Given the description of an element on the screen output the (x, y) to click on. 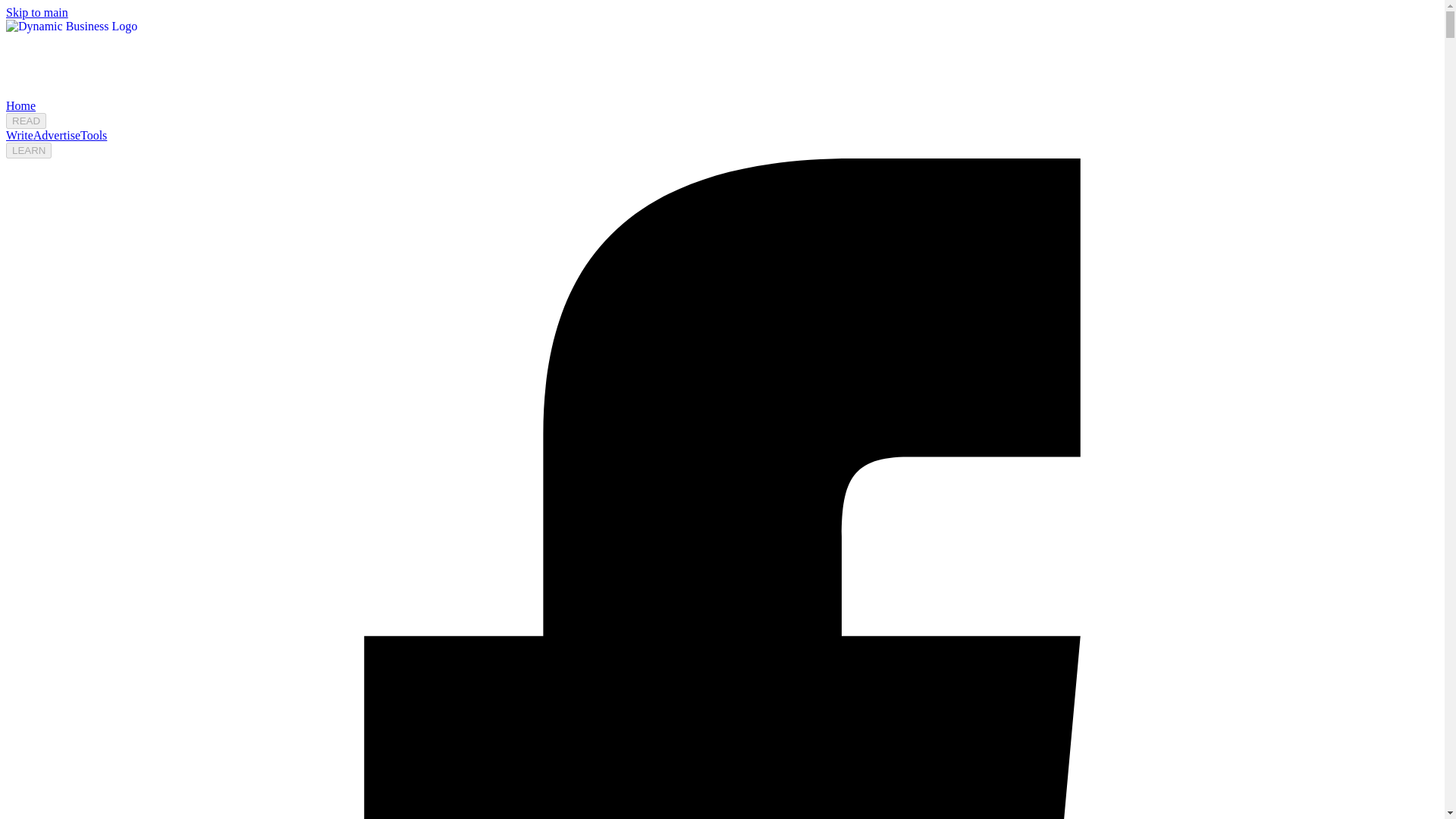
LEARN (27, 150)
READ (25, 120)
Home (19, 105)
Advertise (56, 134)
Write (19, 134)
Skip to main (36, 11)
Tools (93, 134)
